Given the description of an element on the screen output the (x, y) to click on. 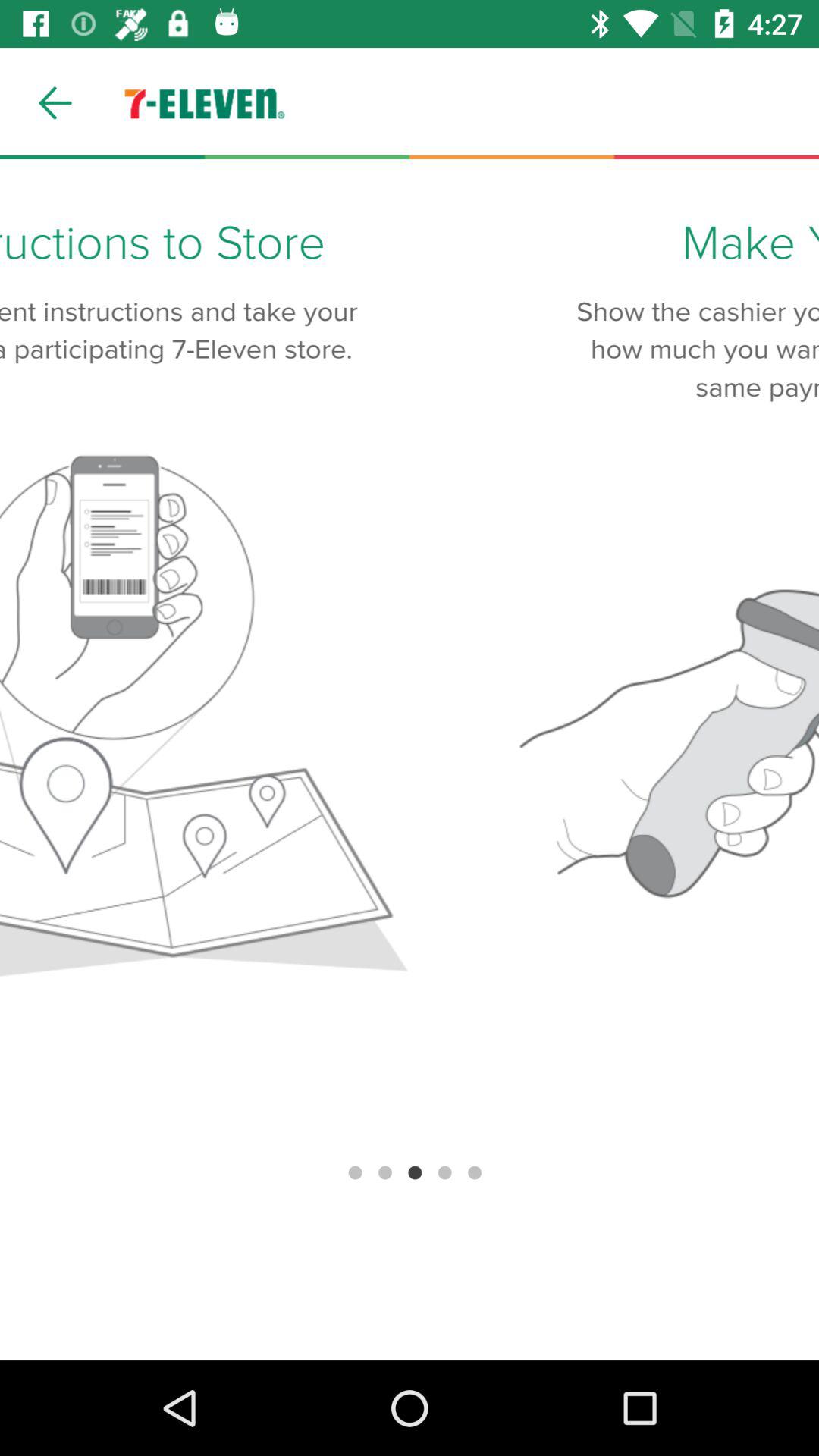
instruction internet page (409, 759)
